Given the description of an element on the screen output the (x, y) to click on. 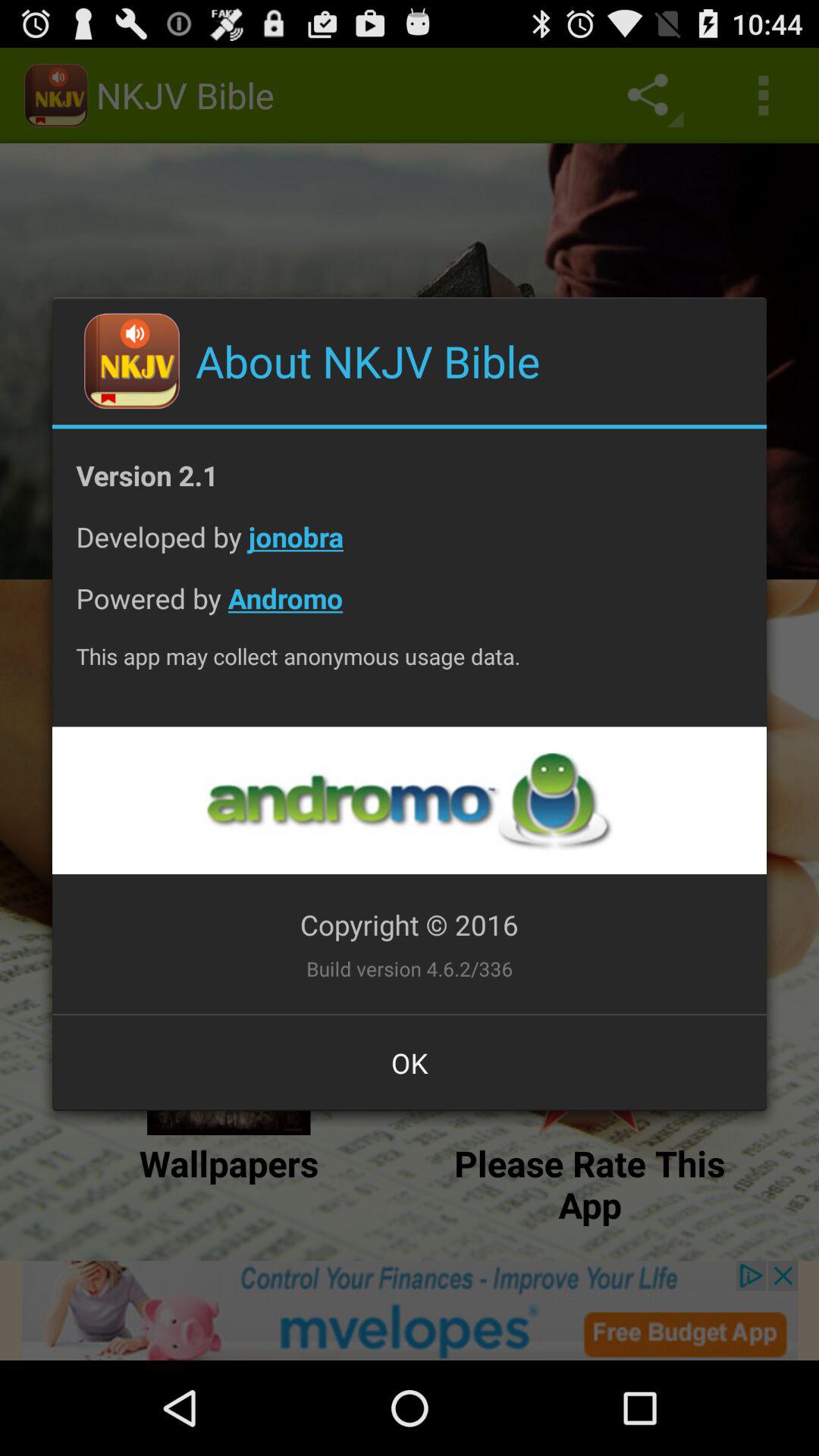
swipe to the developed by jonobra app (409, 548)
